Given the description of an element on the screen output the (x, y) to click on. 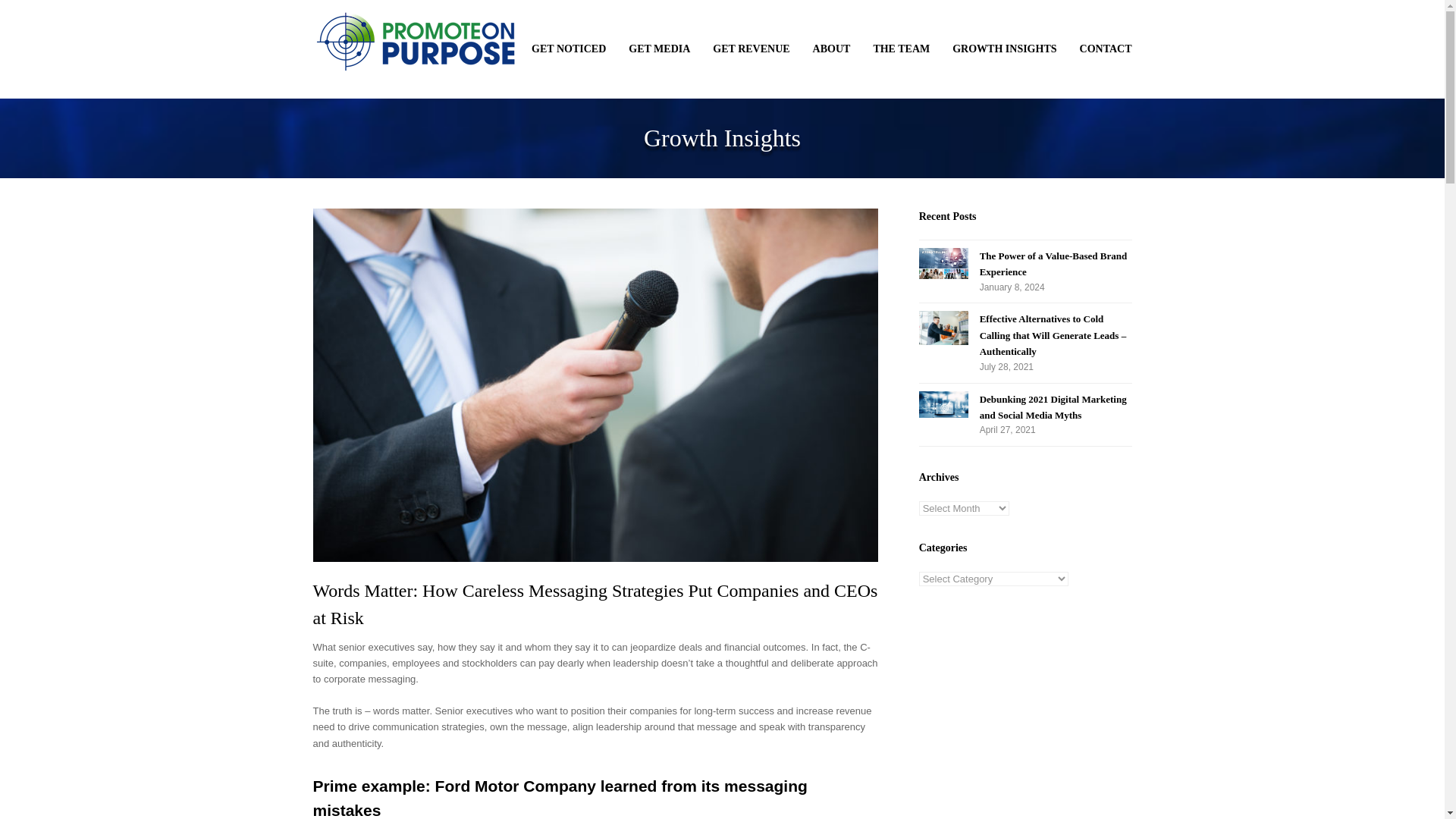
Debunking 2021 Digital Marketing and Social Media Myths (943, 407)
GROWTH INSIGHTS (1003, 48)
GET REVENUE (750, 48)
THE TEAM (900, 48)
GET NOTICED (568, 48)
The Power of a Value-Based Brand Experience (943, 265)
ABOUT (831, 48)
CONTACT (1105, 48)
GET MEDIA (659, 48)
